Given the description of an element on the screen output the (x, y) to click on. 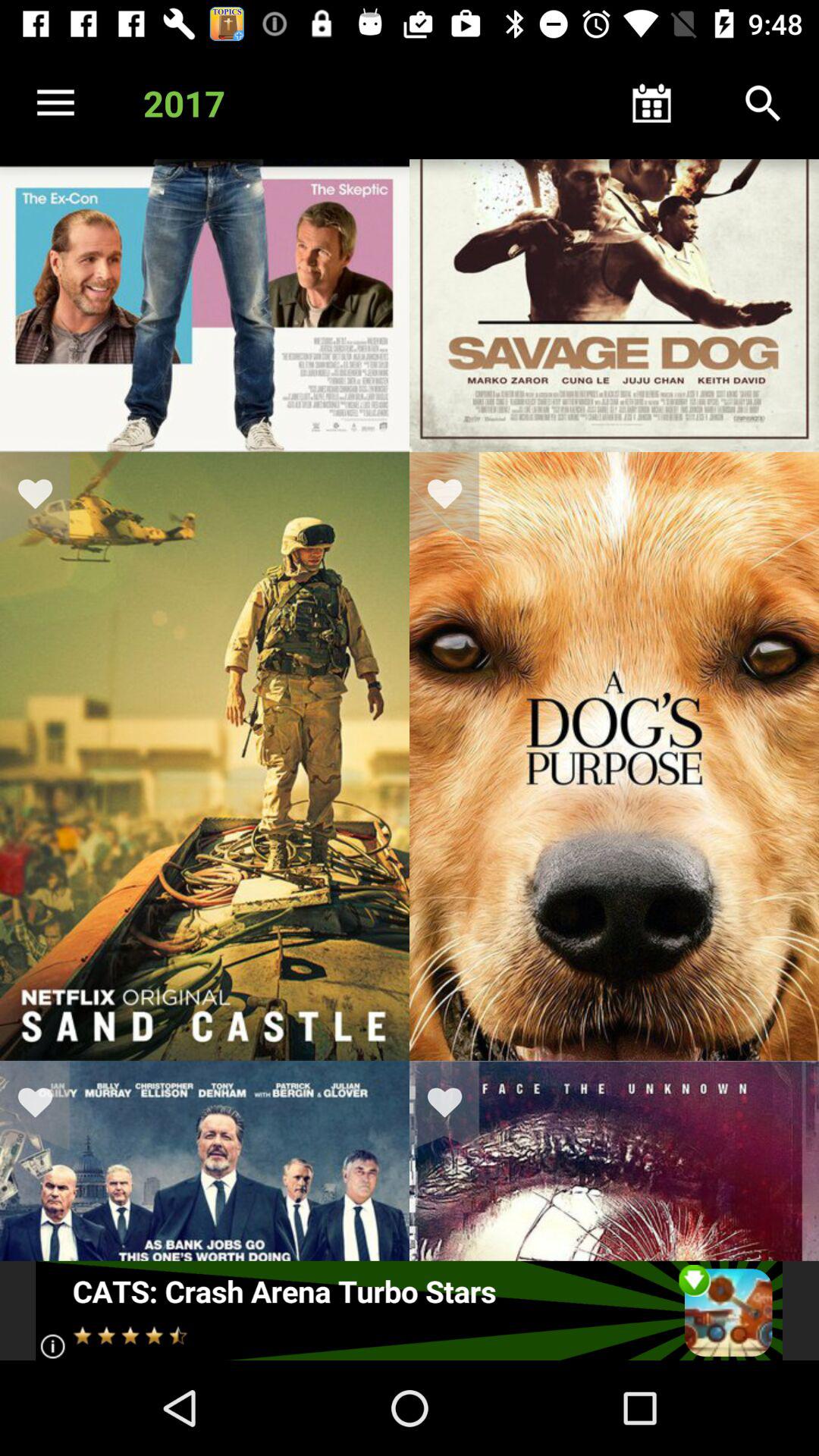
suggested advertisement (408, 1310)
